Given the description of an element on the screen output the (x, y) to click on. 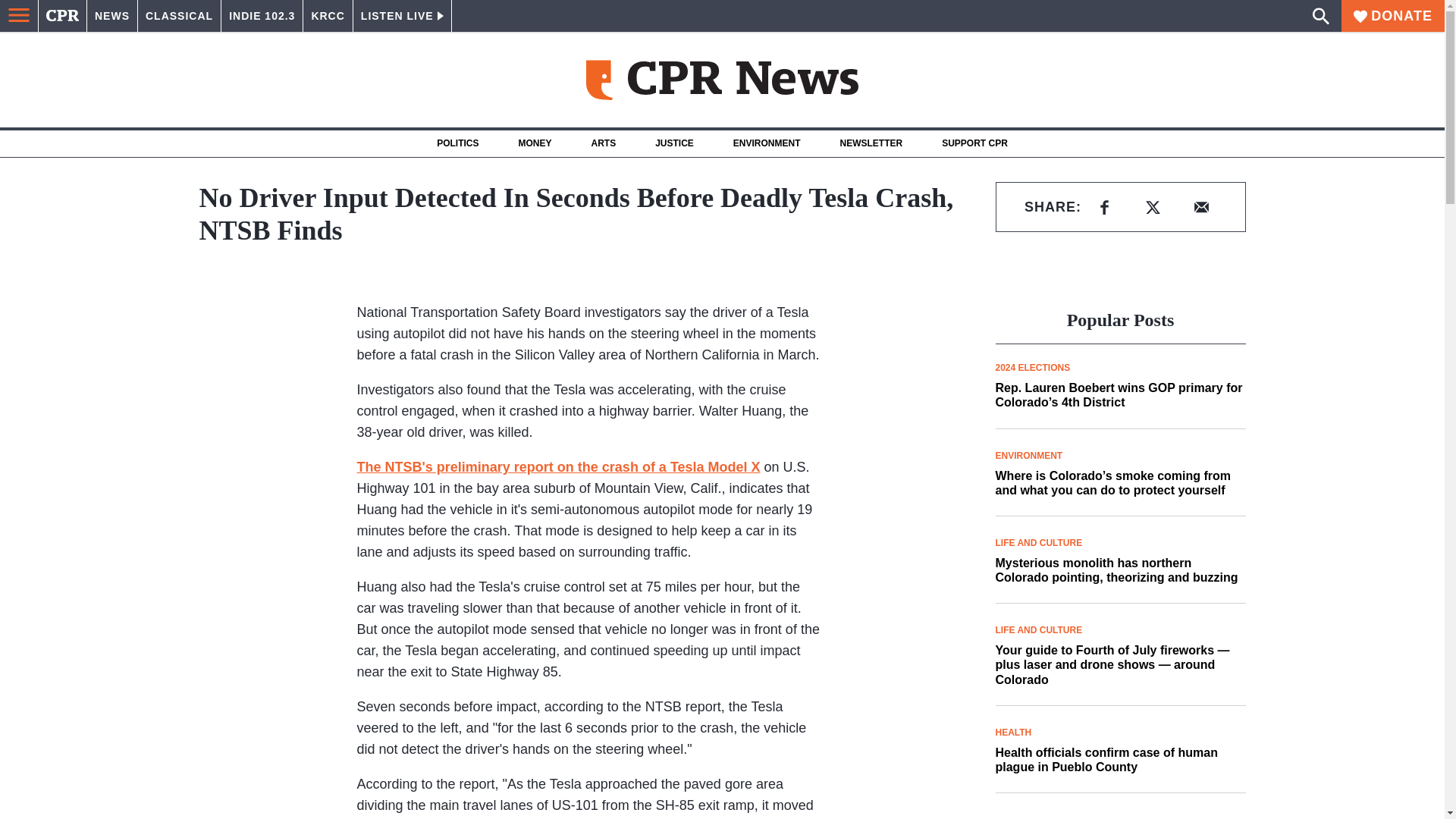
NEWS (111, 15)
INDIE 102.3 (261, 15)
KRCC (327, 15)
CLASSICAL (179, 15)
LISTEN LIVE (402, 15)
